Given the description of an element on the screen output the (x, y) to click on. 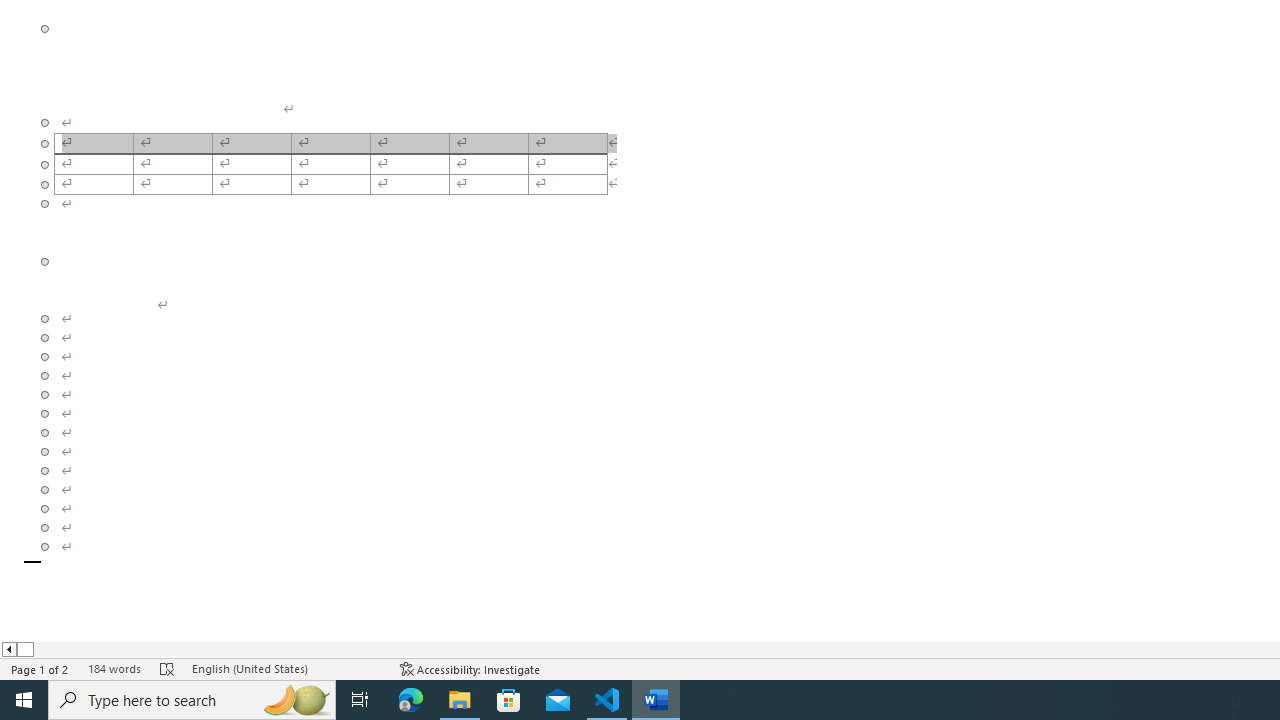
Spelling and Grammar Check Errors (168, 668)
Accessibility Checker Accessibility: Investigate (470, 668)
Language English (United States) (286, 668)
Column left (8, 649)
Word Count 184 words (113, 668)
Page Number Page 1 of 2 (39, 668)
